Given the description of an element on the screen output the (x, y) to click on. 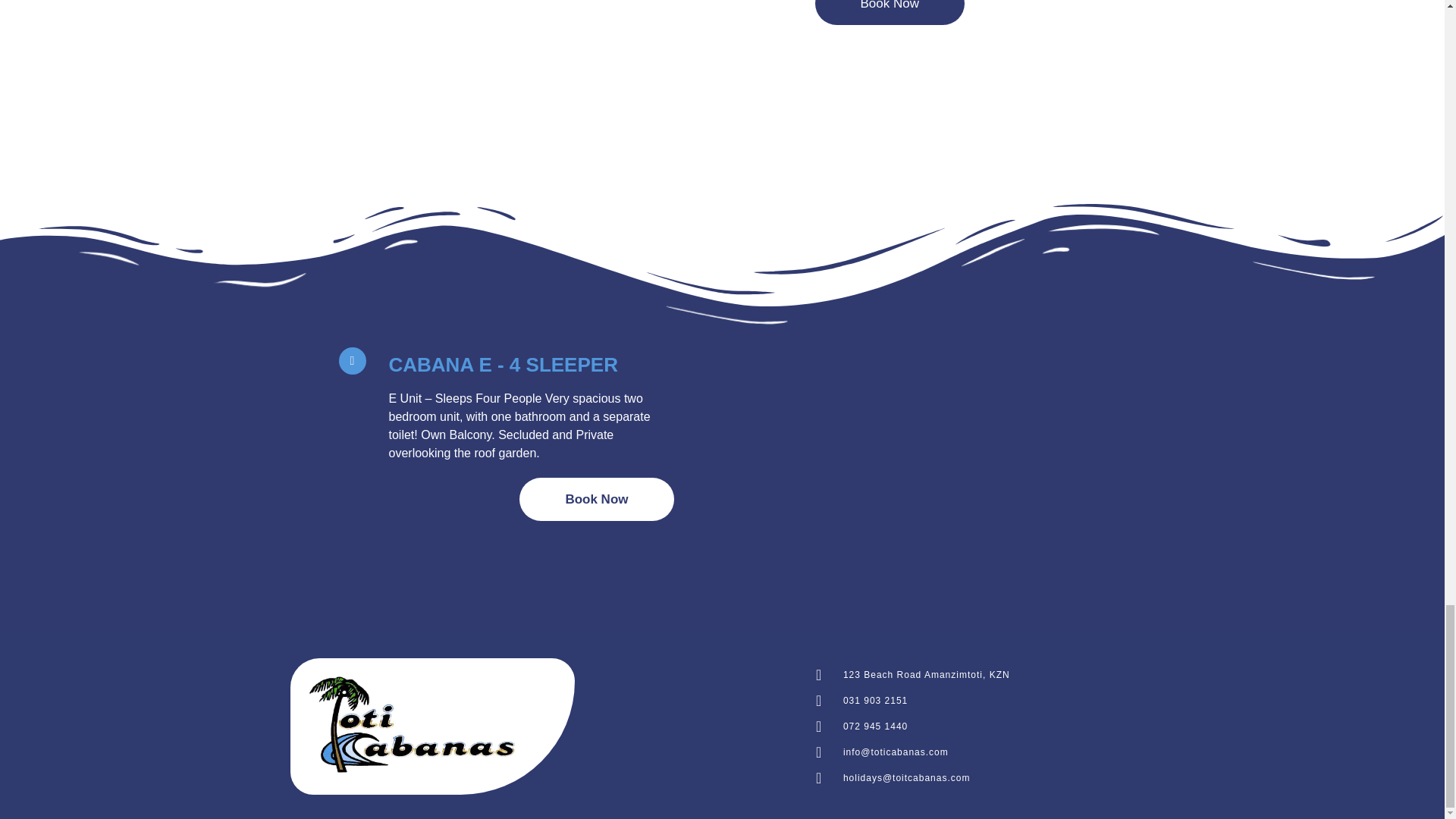
Book Now (595, 498)
Book Now (888, 12)
